Given the description of an element on the screen output the (x, y) to click on. 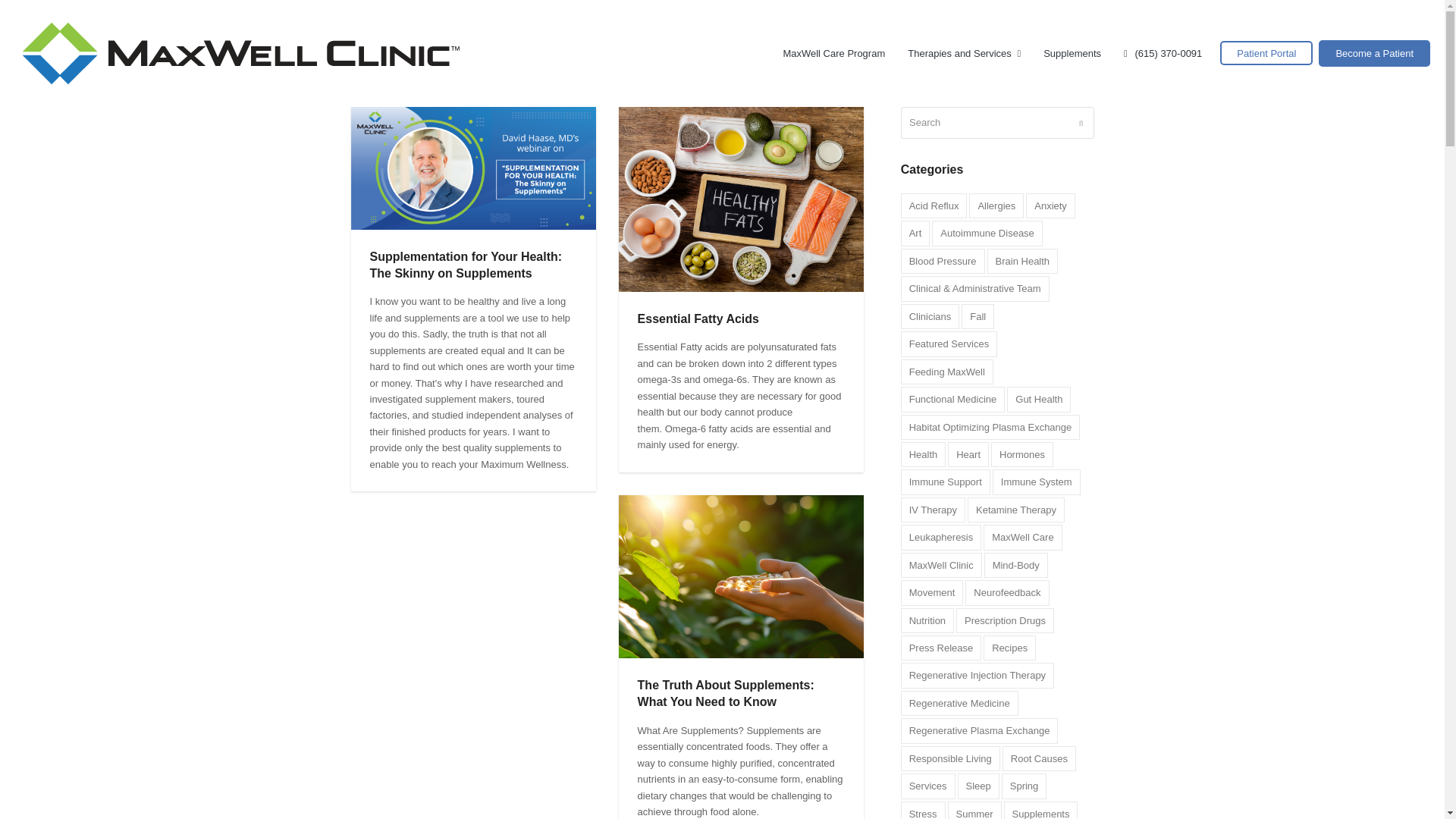
Become a Patient (1374, 53)
Supplementation for Your Health: The Skinny on Supplements (465, 265)
Acid Reflux (934, 205)
Allergies (996, 205)
MaxWell Care Program (833, 53)
Anxiety (1050, 205)
MaxWell Care Program (833, 53)
Autoimmune Disease (986, 232)
Essential Fatty Acids (697, 318)
Brain Health (1022, 260)
